Given the description of an element on the screen output the (x, y) to click on. 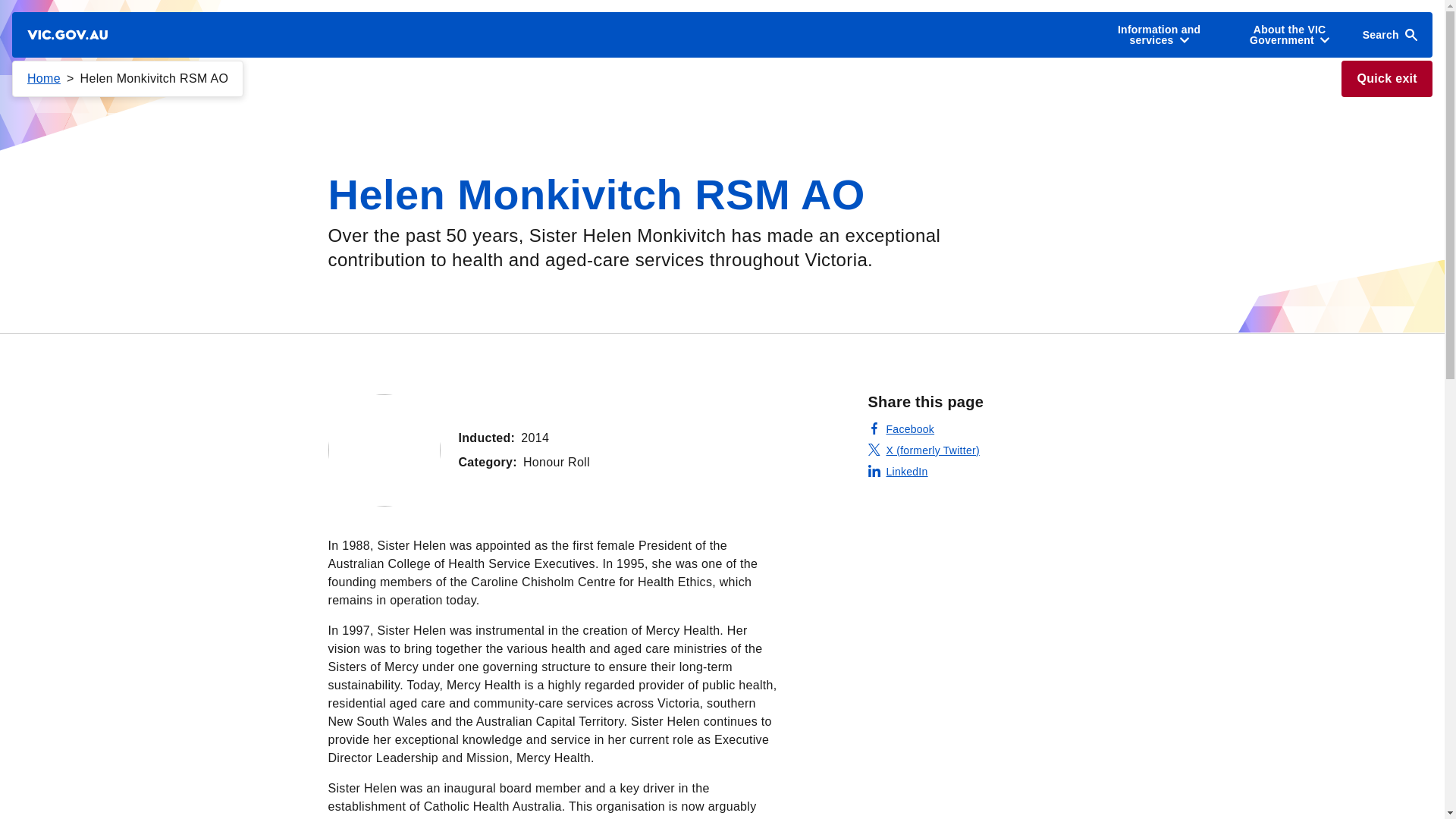
Quick exit (1386, 78)
LinkedIn (897, 471)
Home (44, 78)
Facebook (900, 428)
